Given the description of an element on the screen output the (x, y) to click on. 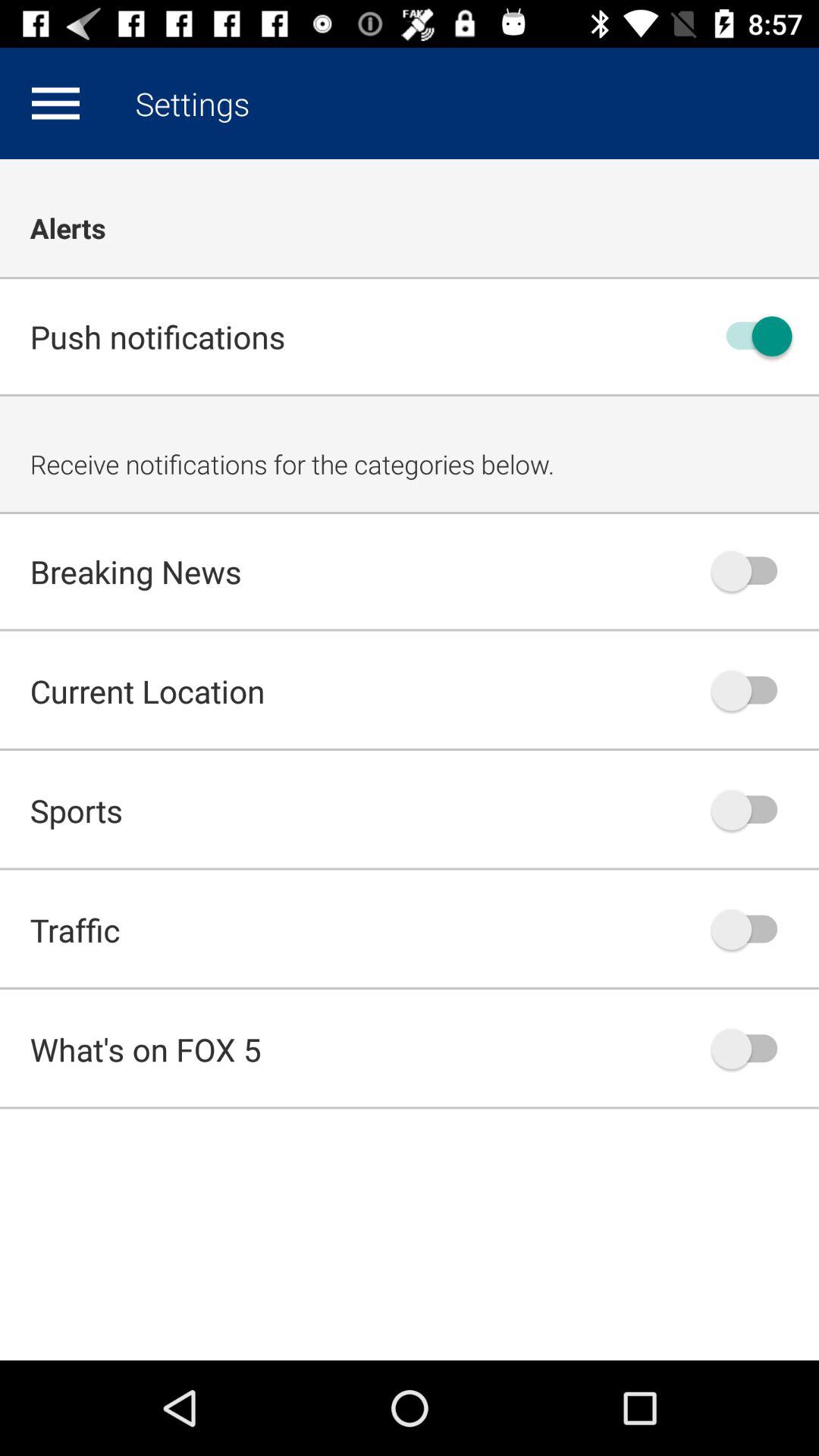
toggle fox 5 notification (751, 1049)
